Given the description of an element on the screen output the (x, y) to click on. 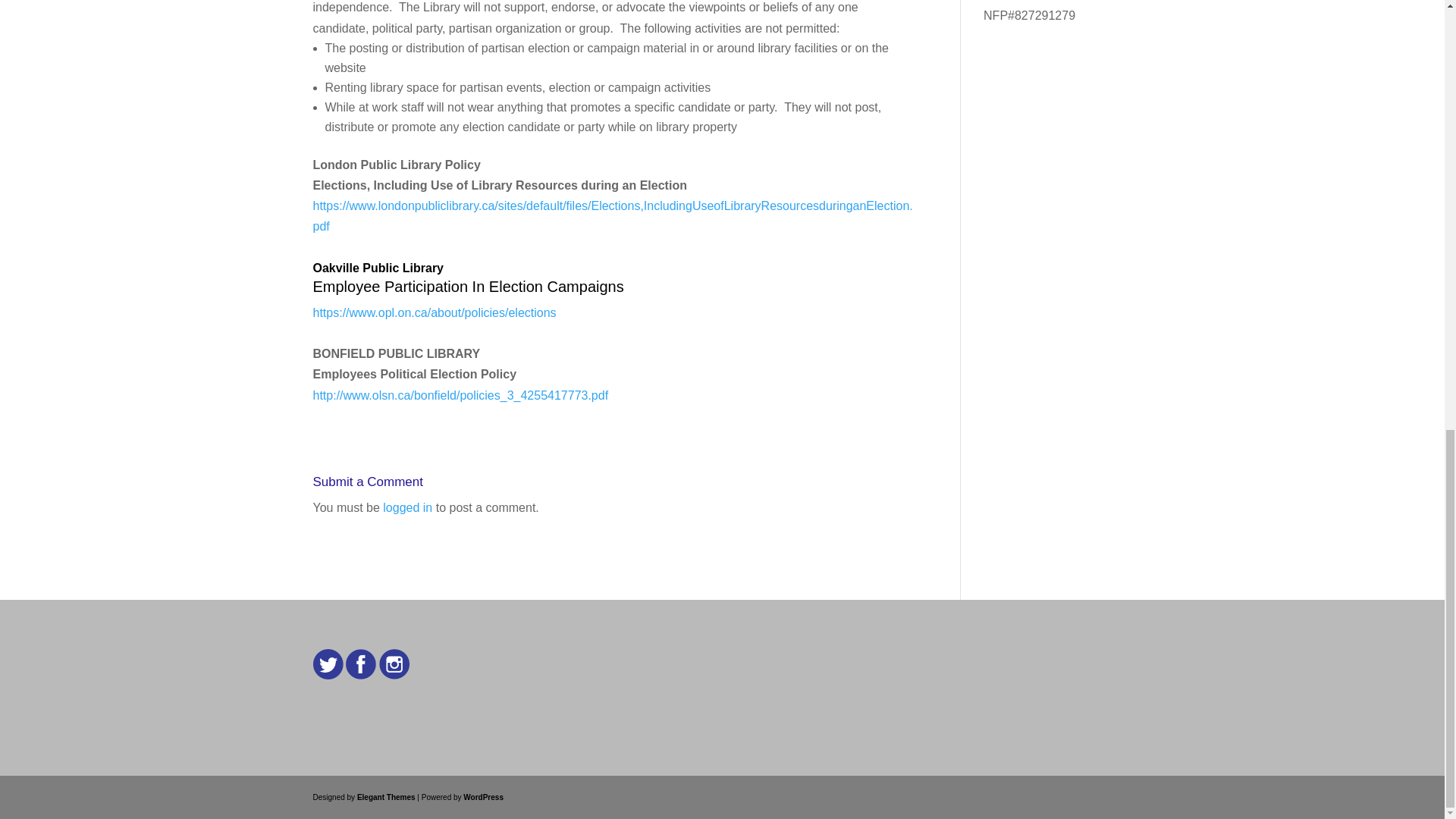
Premium WordPress Themes (385, 797)
